Given the description of an element on the screen output the (x, y) to click on. 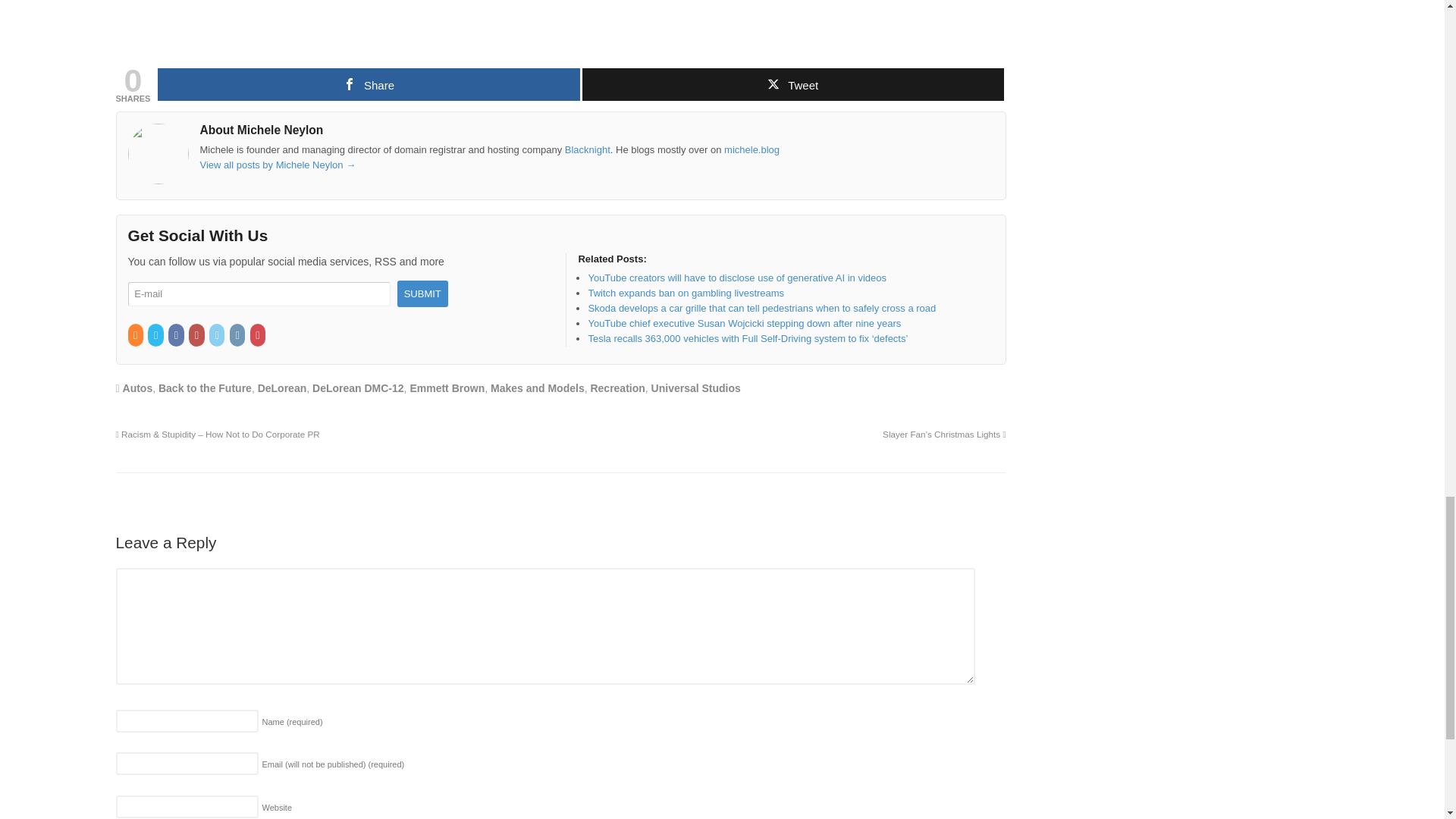
Submit (422, 293)
Submit (422, 293)
Blacknight (587, 149)
Tweet (793, 83)
RSS (136, 335)
Autos (137, 387)
E-mail (259, 294)
YouTube (197, 335)
Back to the Future (204, 387)
